Given the description of an element on the screen output the (x, y) to click on. 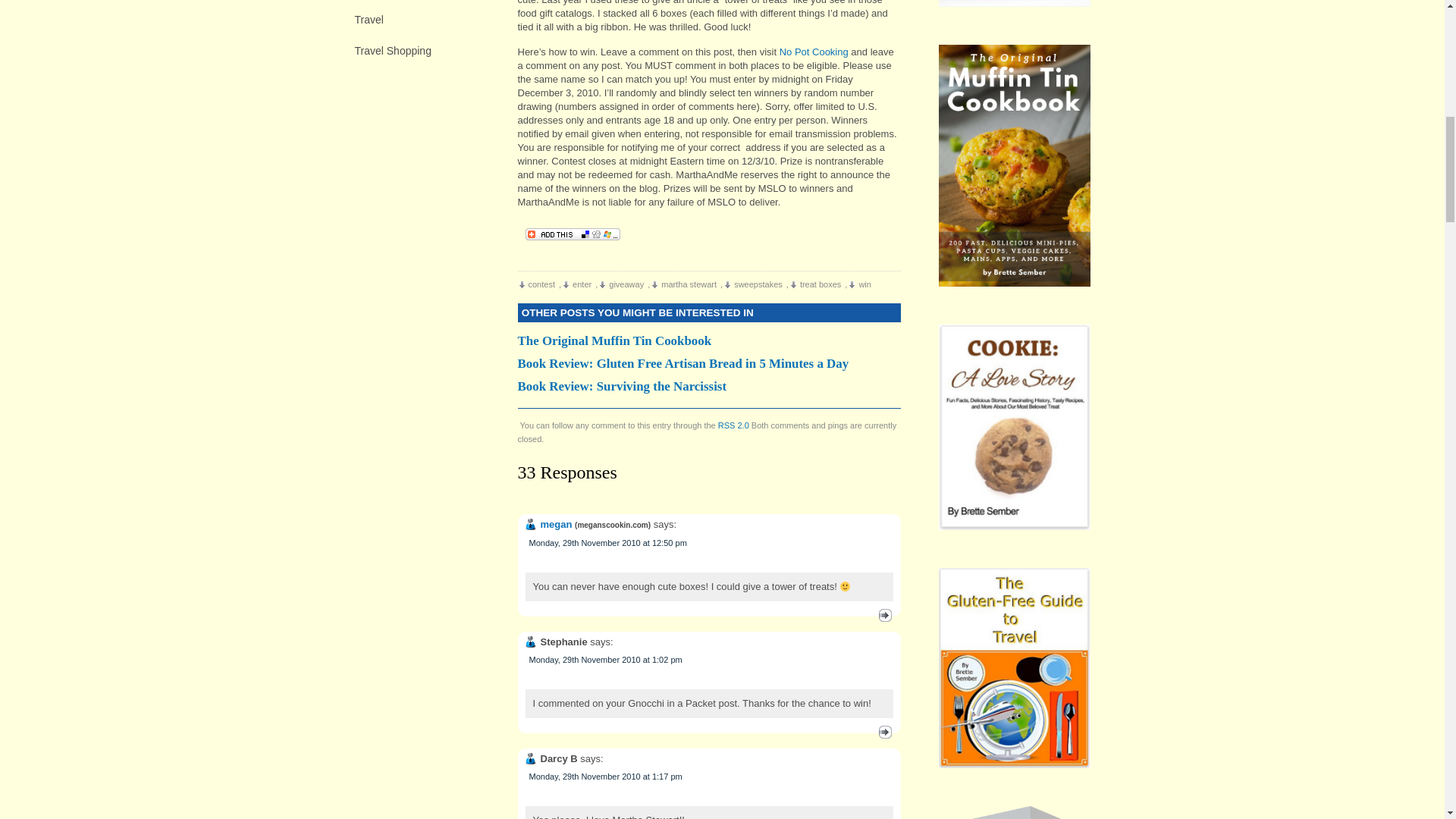
contest (536, 284)
sweepstakes (754, 284)
Book Review: Gluten Free Artisan Bread in 5 Minutes a Day (707, 363)
Book Review: Surviving the Narcissist (707, 386)
The Original Muffin Tin Cookbook (707, 341)
Monday, 29th November 2010 at 12:50 pm (608, 542)
win (859, 284)
Travel (425, 19)
megan (556, 523)
RSS 2.0 (733, 424)
meganscookin.com (611, 524)
Monday, 29th November 2010 at 1:17 pm (605, 776)
No Pot Cooking (813, 51)
giveaway (621, 284)
martha stewart (684, 284)
